Given the description of an element on the screen output the (x, y) to click on. 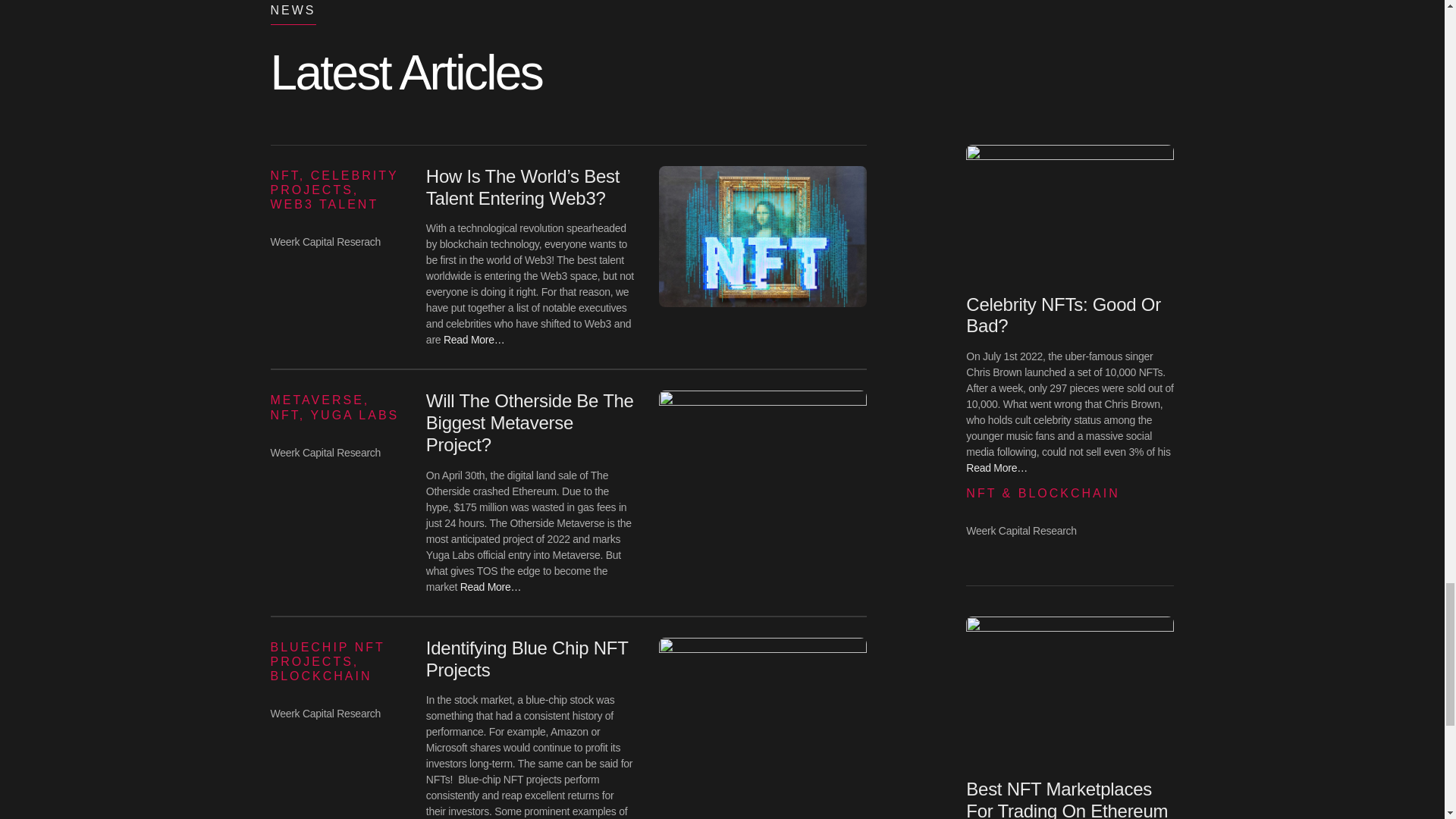
Will The Otherside Be The Biggest Metaverse Project? (529, 422)
Celebrity NFTs: Good Or Bad? (1063, 315)
Best NFT Marketplaces For Trading On Ethereum (1066, 798)
Identifying Blue Chip NFT Projects (526, 659)
